Given the description of an element on the screen output the (x, y) to click on. 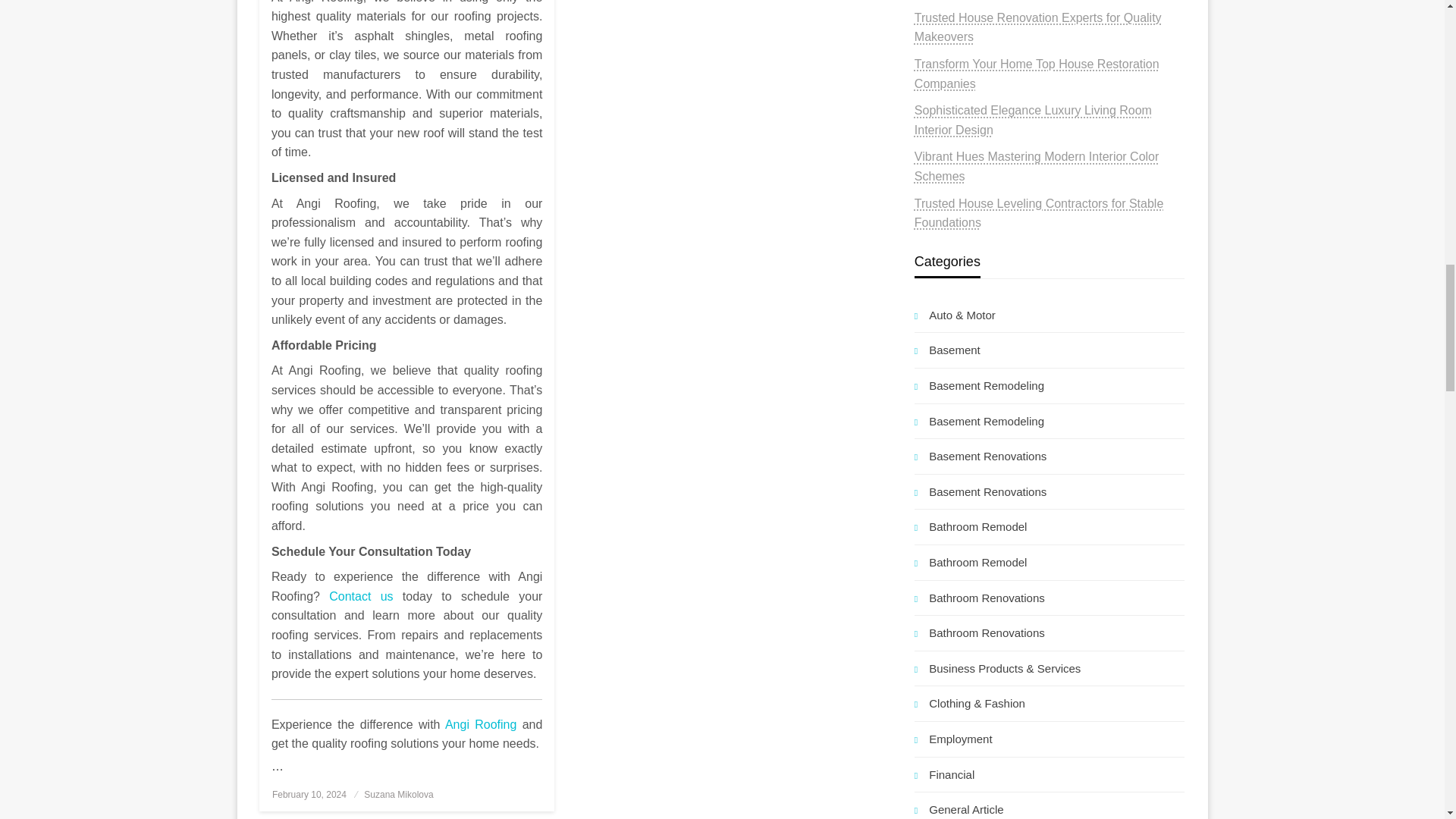
Suzana Mikolova (398, 794)
Angi Roofing (480, 724)
February 10, 2024 (309, 794)
Suzana Mikolova (398, 794)
Contact us (361, 595)
